Given the description of an element on the screen output the (x, y) to click on. 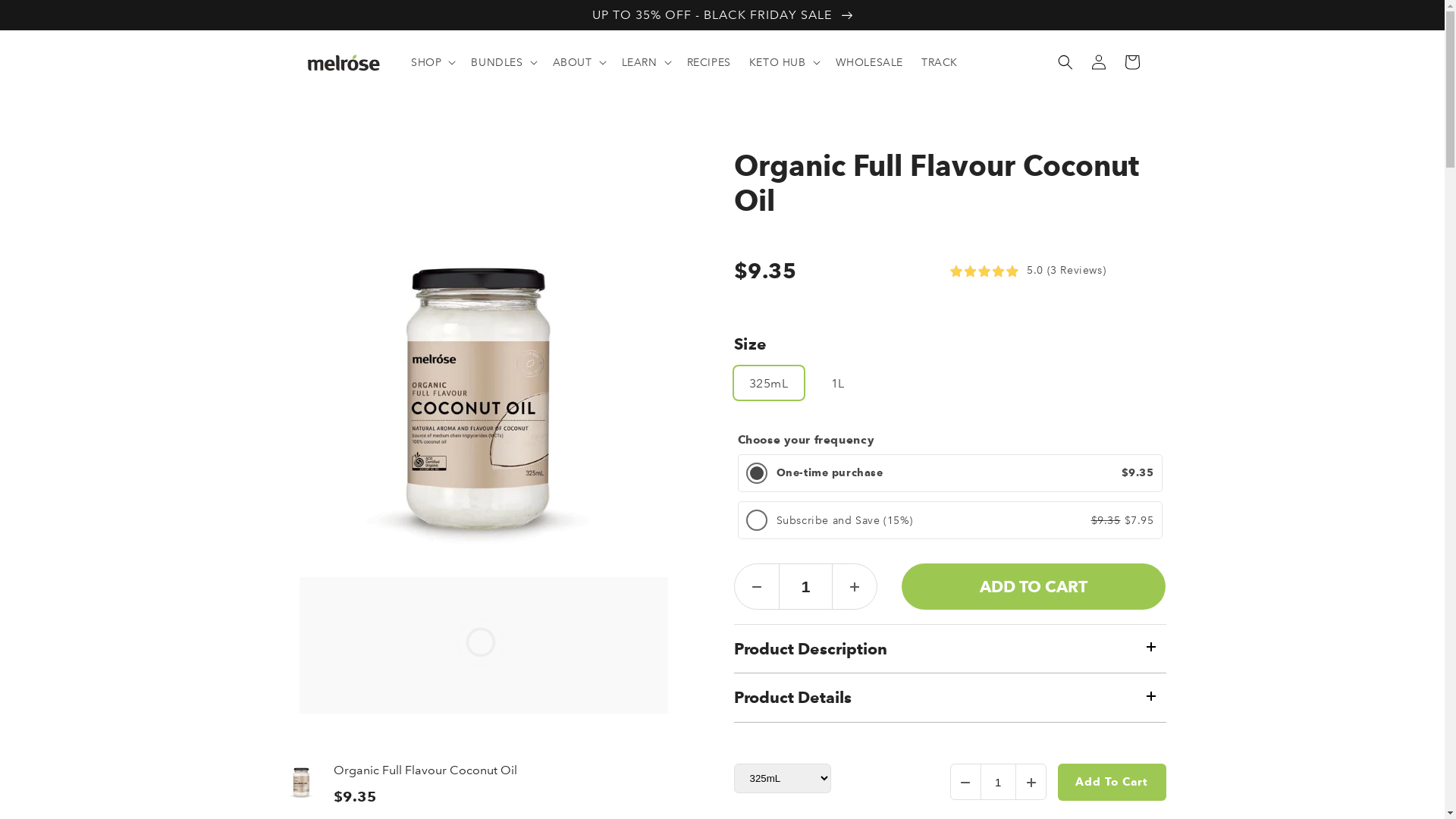
Cart Element type: text (1131, 61)
WHOLESALE Element type: text (869, 62)
UP TO 35% OFF - BLACK FRIDAY SALE Element type: text (722, 14)
RECIPES Element type: text (708, 62)
Add To Cart Element type: text (1111, 781)
Log in Element type: text (1097, 61)
Organic Full Flavour Coconut Oil Element type: text (950, 182)
ADD TO CART Element type: text (1033, 586)
TRACK Element type: text (939, 62)
Organic Full Flavour Coconut Oil Element type: text (420, 770)
